Given the description of an element on the screen output the (x, y) to click on. 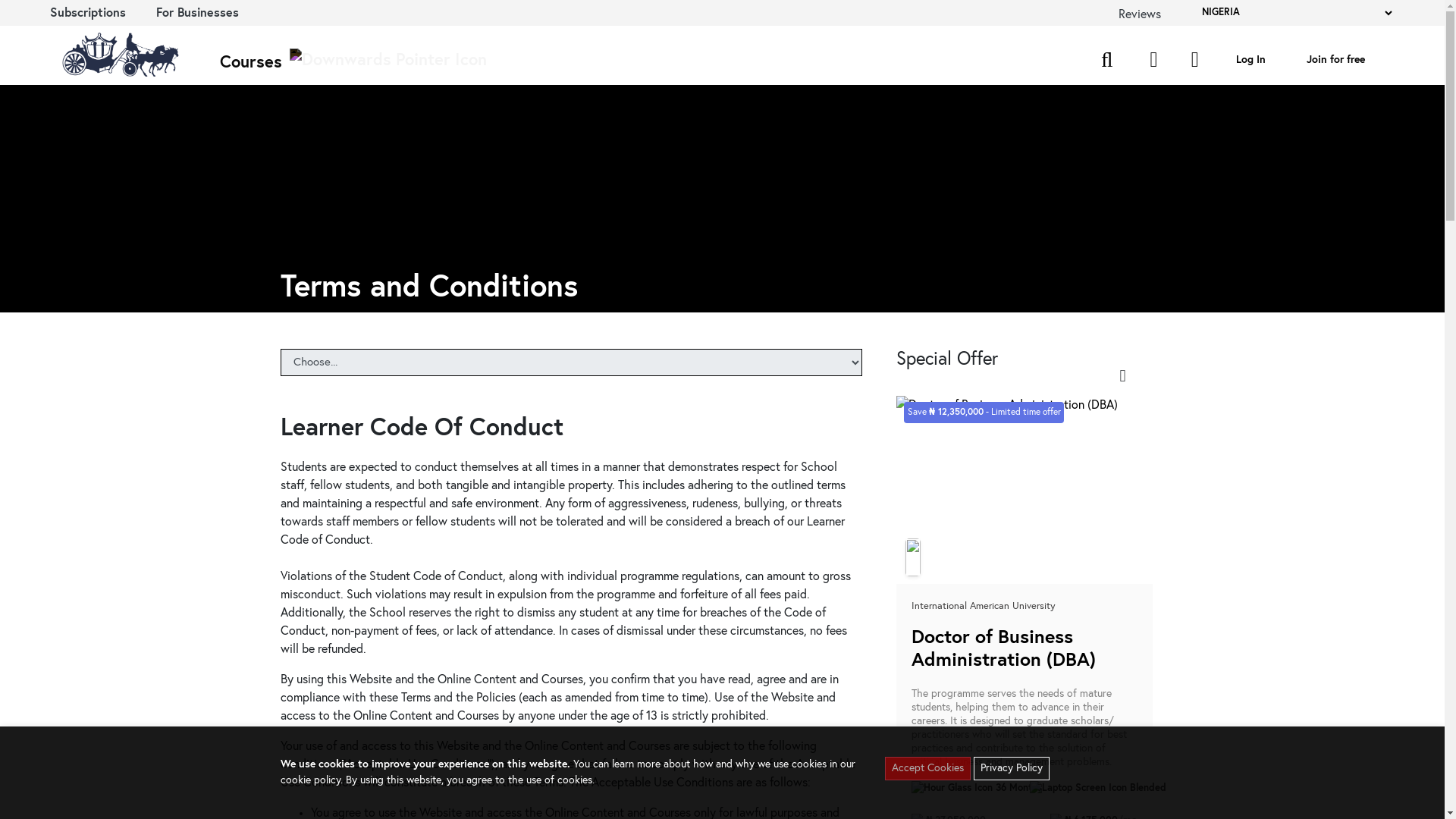
Reviews (1139, 13)
Subscriptions (87, 12)
For Businesses (196, 12)
Add to wishlist (1122, 374)
Courses (353, 64)
